Given the description of an element on the screen output the (x, y) to click on. 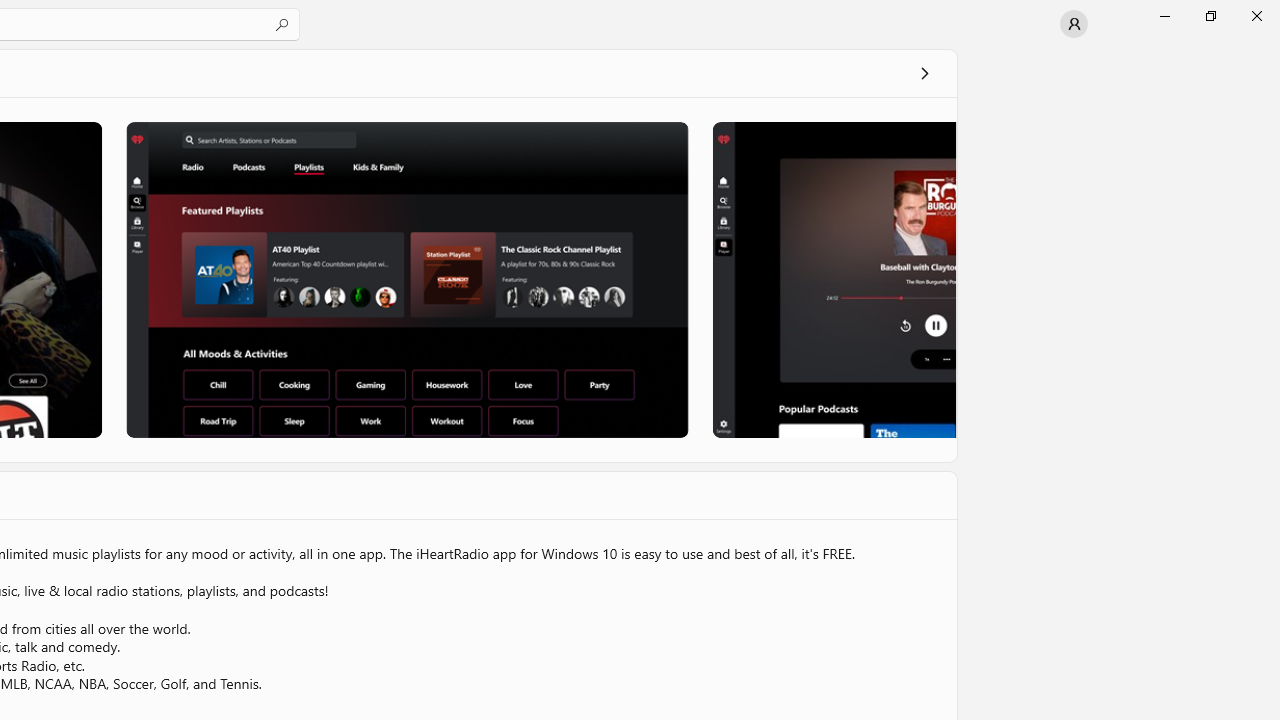
Minimize Microsoft Store (1164, 15)
See all (924, 72)
Screenshot 2 (406, 279)
User profile (1073, 24)
Close Microsoft Store (1256, 15)
Restore Microsoft Store (1210, 15)
Screenshot 3 (832, 279)
